Given the description of an element on the screen output the (x, y) to click on. 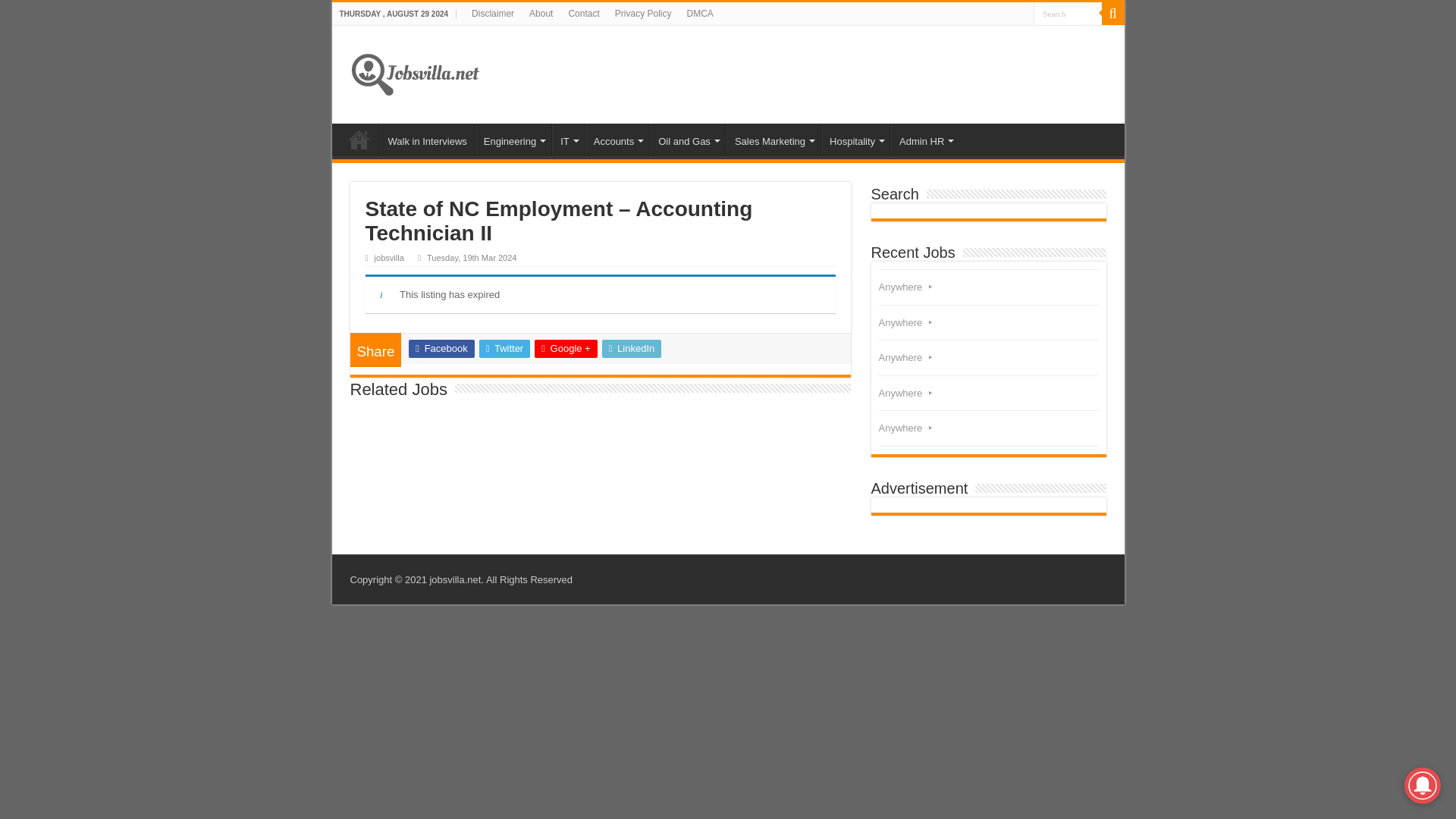
Search (1066, 13)
Search (1066, 13)
Search (1066, 13)
